Given the description of an element on the screen output the (x, y) to click on. 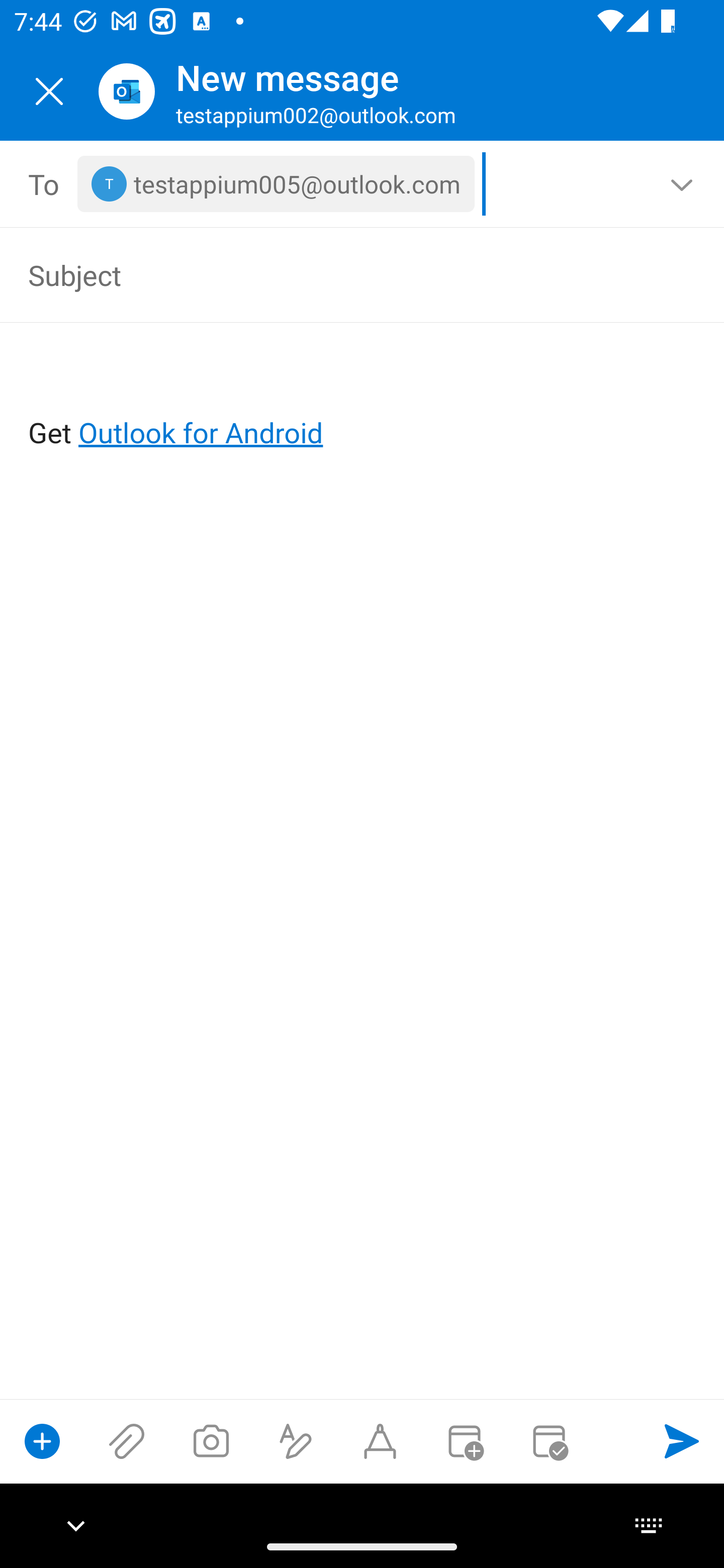
Close (49, 91)
Subject (333, 274)


Get Outlook for Android (363, 400)
Show compose options (42, 1440)
Attach files (126, 1440)
Take a photo (210, 1440)
Show formatting options (295, 1440)
Start Ink compose (380, 1440)
Convert to event (464, 1440)
Send availability (548, 1440)
Send (681, 1440)
